Given the description of an element on the screen output the (x, y) to click on. 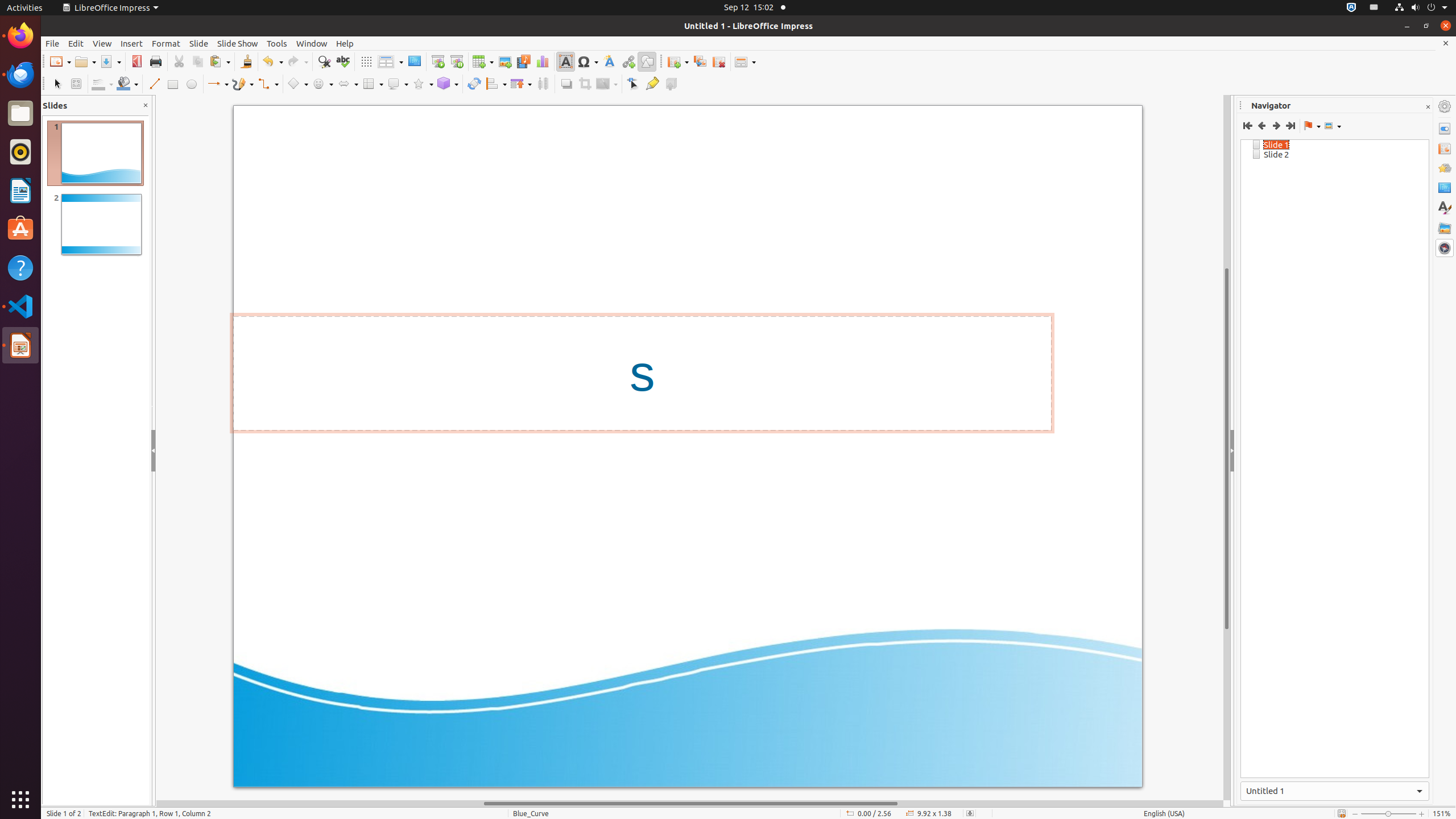
Files Element type: push-button (20, 113)
Edit Points Element type: push-button (632, 83)
Table Element type: push-button (482, 61)
Last Slide Element type: push-button (1290, 125)
Master Slides Element type: radio-button (1444, 188)
